Given the description of an element on the screen output the (x, y) to click on. 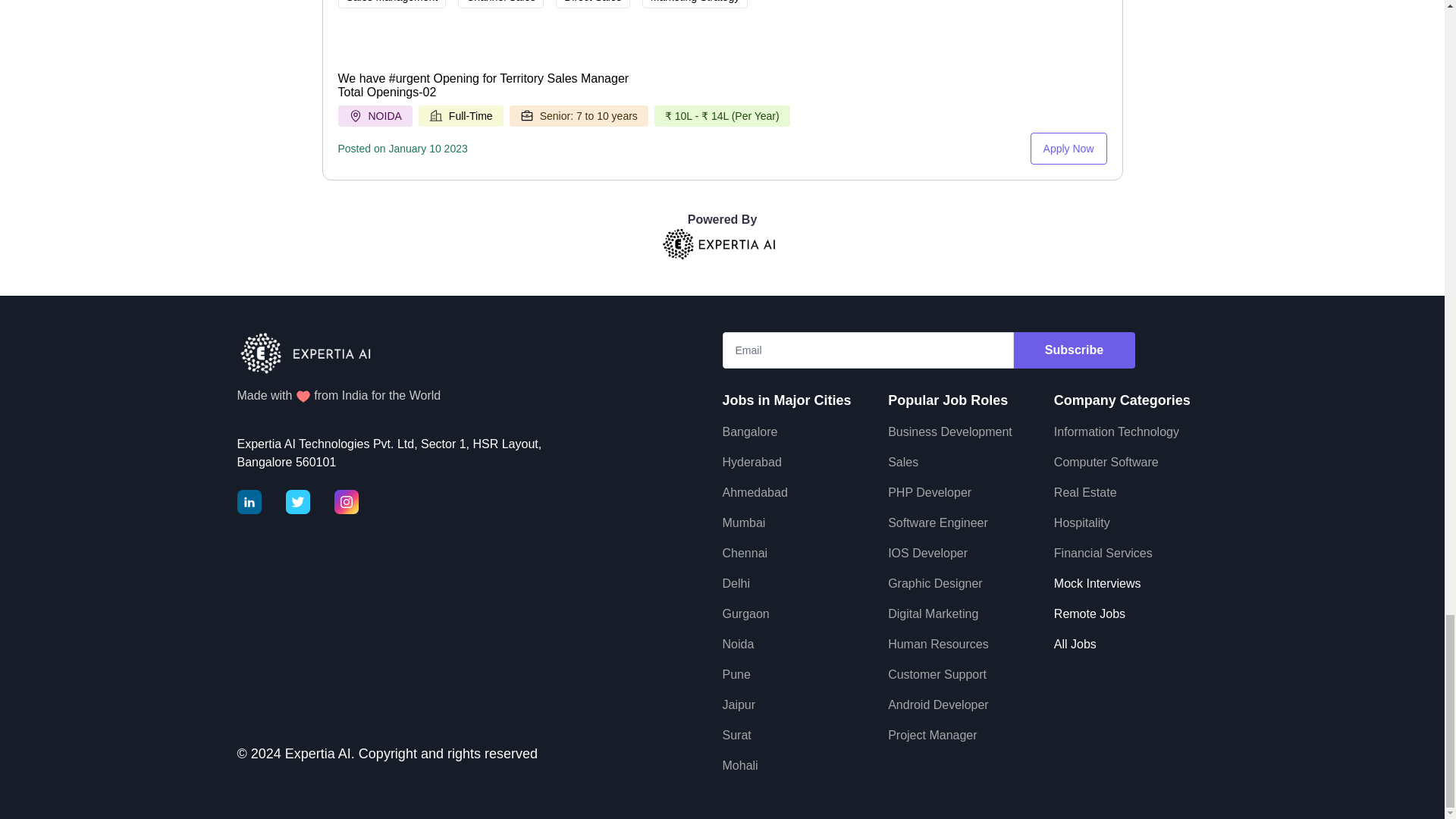
Pune (735, 674)
Jaipur (738, 704)
Gurgaon (745, 613)
Apply Now (1068, 148)
Noida (738, 644)
Bangalore (749, 431)
Delhi (735, 583)
Business Development (949, 431)
PHP Developer (929, 492)
Mohali (739, 765)
